Given the description of an element on the screen output the (x, y) to click on. 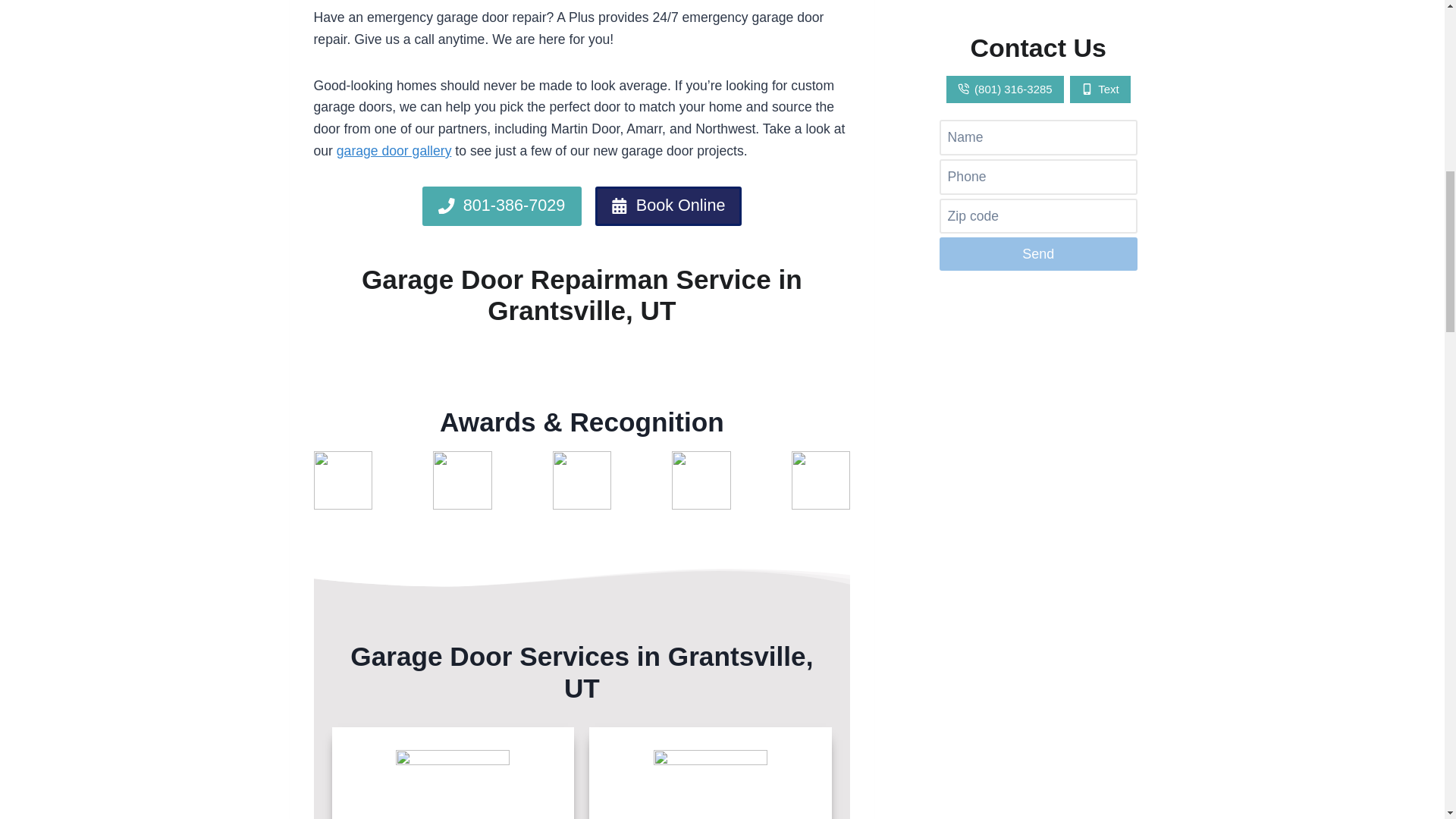
garage door gallery (393, 150)
